Given the description of an element on the screen output the (x, y) to click on. 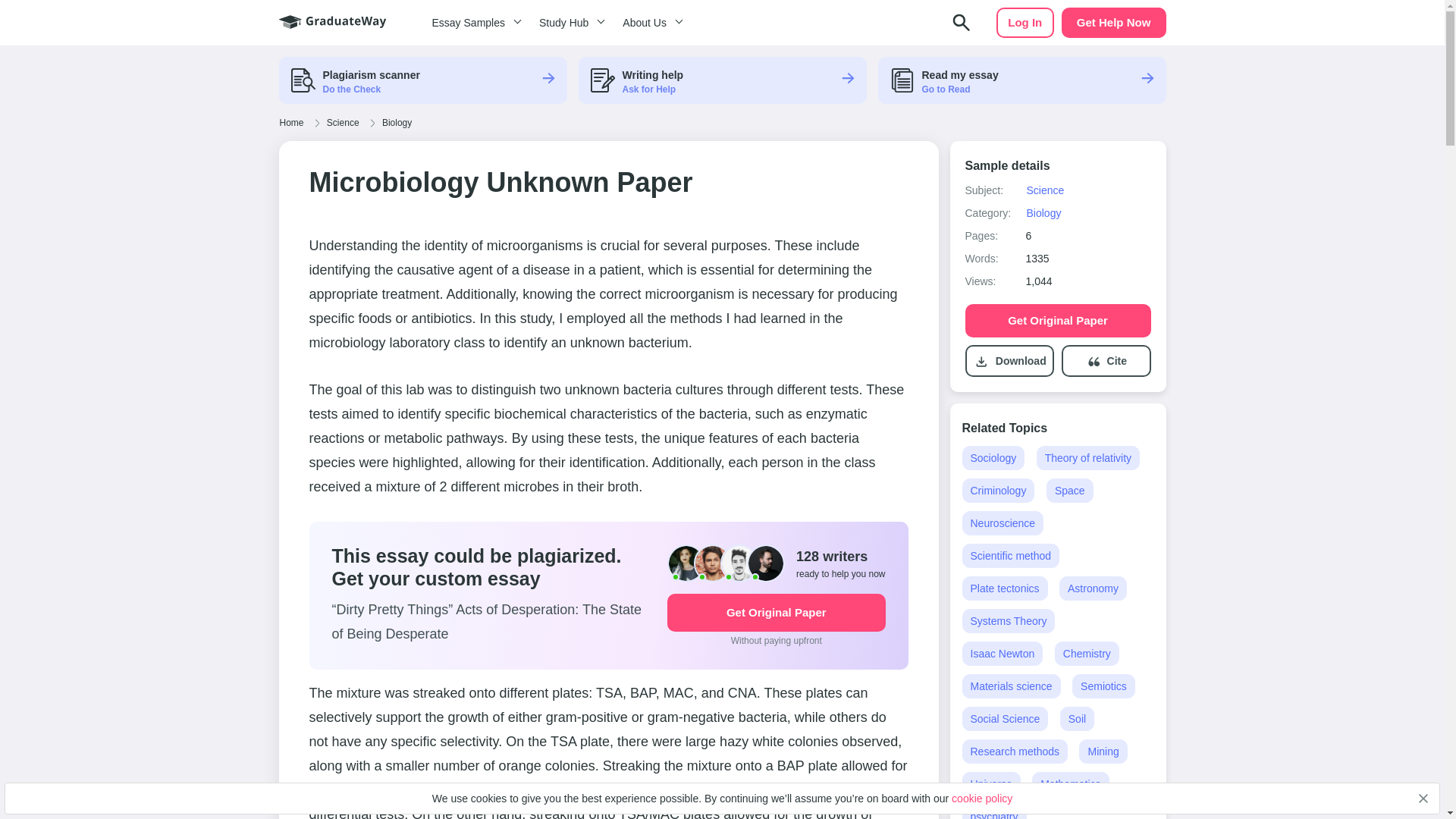
Science (1044, 190)
Study Hub (569, 22)
Essay Samples (473, 22)
About Us (649, 22)
Cite (1116, 360)
Biology (396, 122)
Home (291, 122)
Science (342, 122)
Biology (1043, 213)
